Given the description of an element on the screen output the (x, y) to click on. 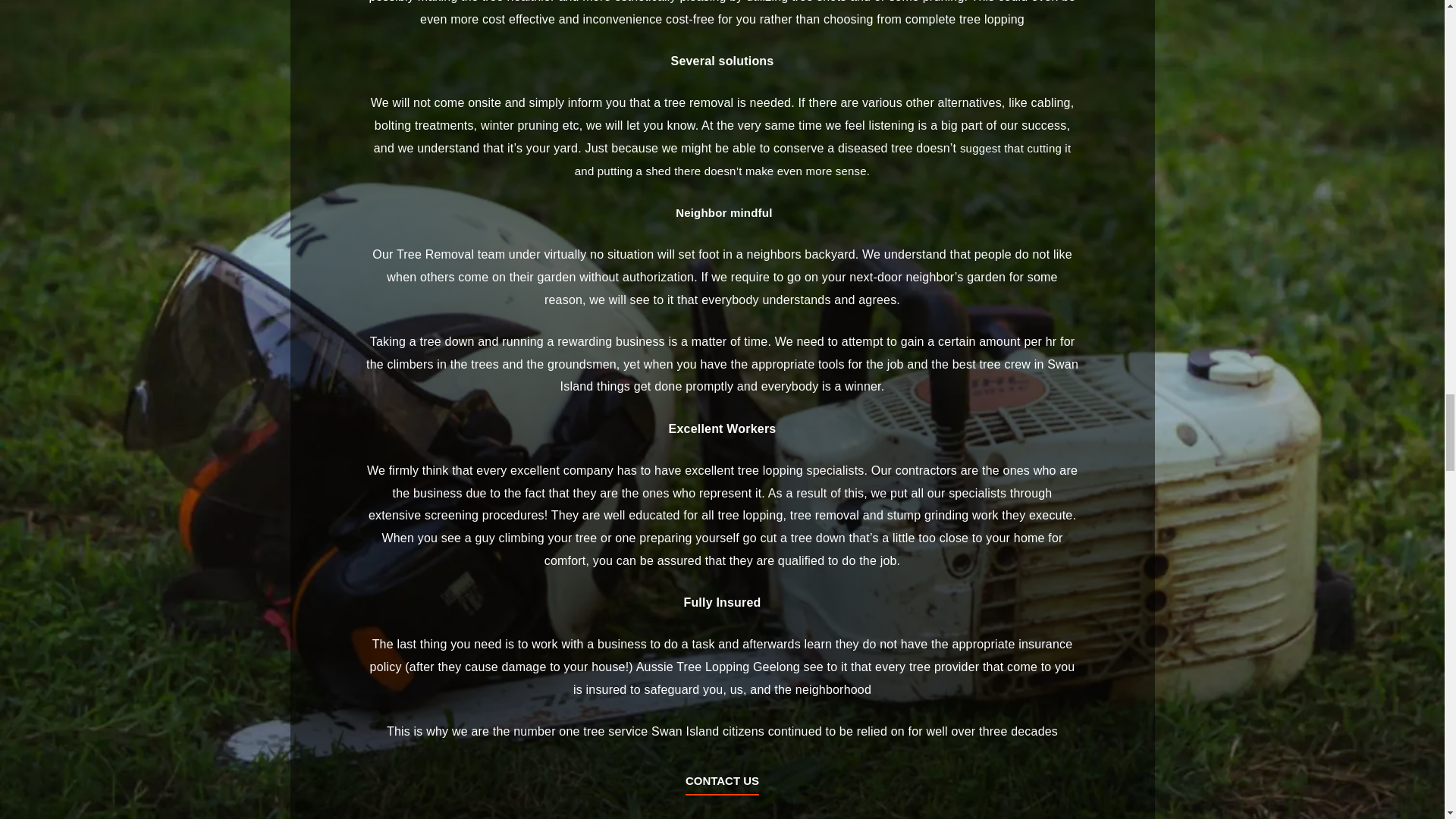
CONTACT US (721, 784)
